Given the description of an element on the screen output the (x, y) to click on. 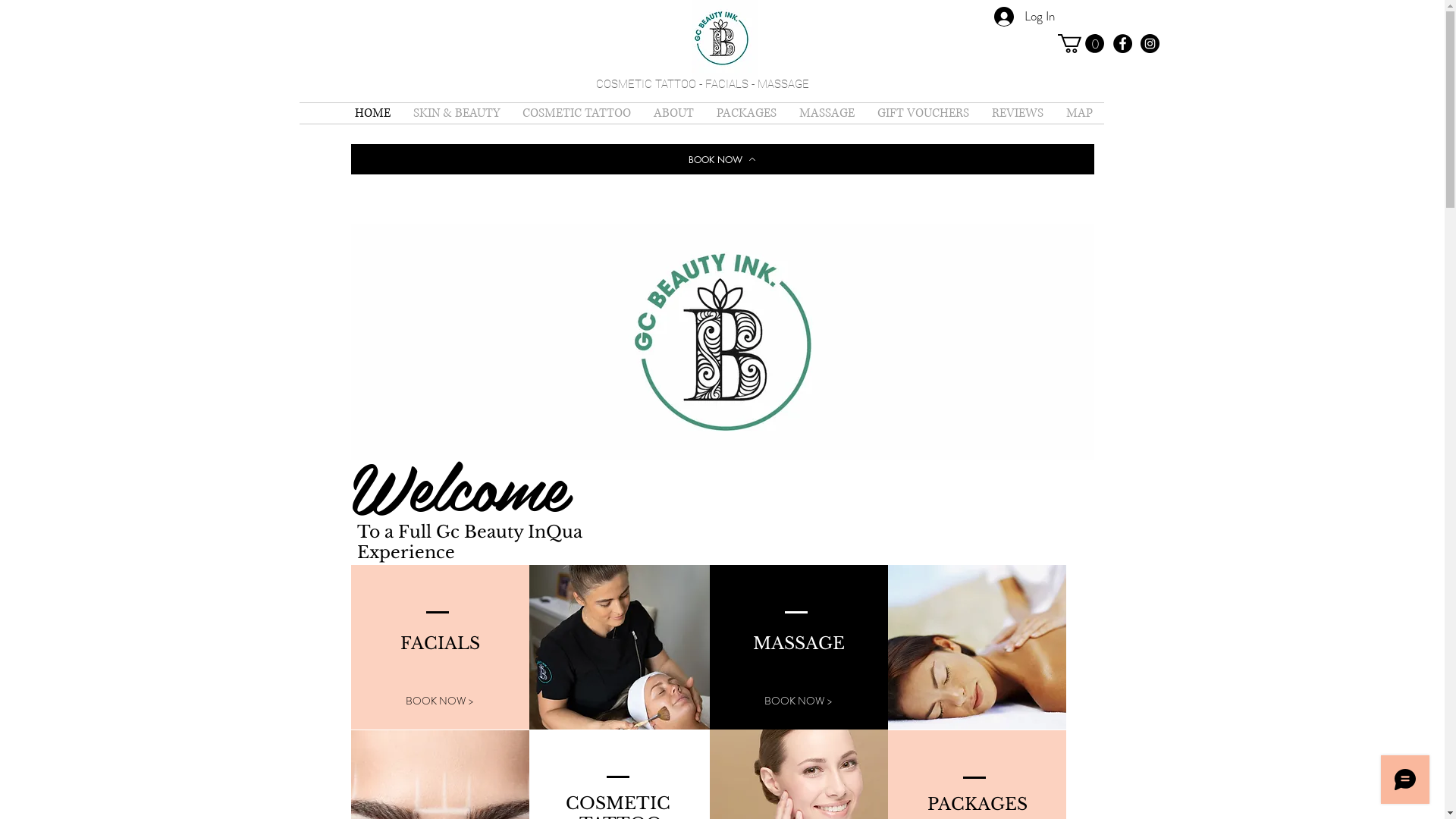
MAP Element type: text (1078, 113)
PACKAGES Element type: text (746, 113)
MASSAGE Element type: text (826, 113)
BOOK NOW > Element type: text (798, 701)
COSMETIC TATTOO - FACIALS - MASSAGE Element type: text (702, 84)
ABOUT Element type: text (672, 113)
HOME Element type: text (371, 113)
Log In Element type: text (1023, 16)
IMG_3161 2.jpg Element type: hover (724, 40)
REVIEWS Element type: text (1016, 113)
GIFT VOUCHERS Element type: text (923, 113)
BOOK NOW > Element type: text (438, 701)
BOOK NOW Element type: text (721, 159)
SKIN & BEAUTY Element type: text (456, 113)
COSMETIC TATTOO Element type: text (576, 113)
0 Element type: text (1080, 43)
